Given the description of an element on the screen output the (x, y) to click on. 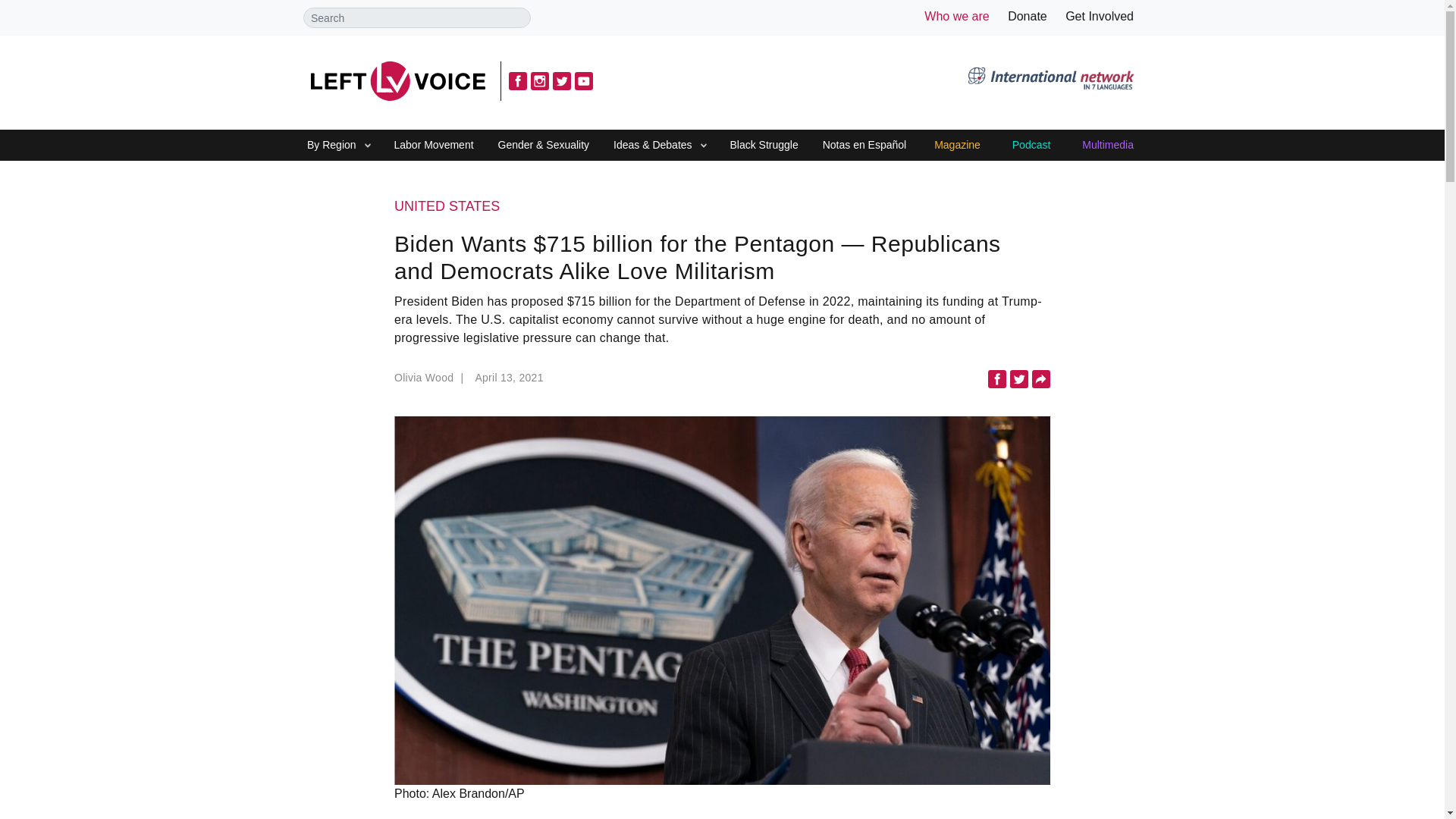
Get Involved (1099, 15)
Labor Movement (433, 145)
Magazine (957, 145)
UNITED STATES (721, 207)
Donate (1027, 15)
Multimedia (1107, 145)
Left Voice (397, 80)
Black Struggle (763, 145)
Olivia Wood (430, 381)
International Network (1050, 80)
